Given the description of an element on the screen output the (x, y) to click on. 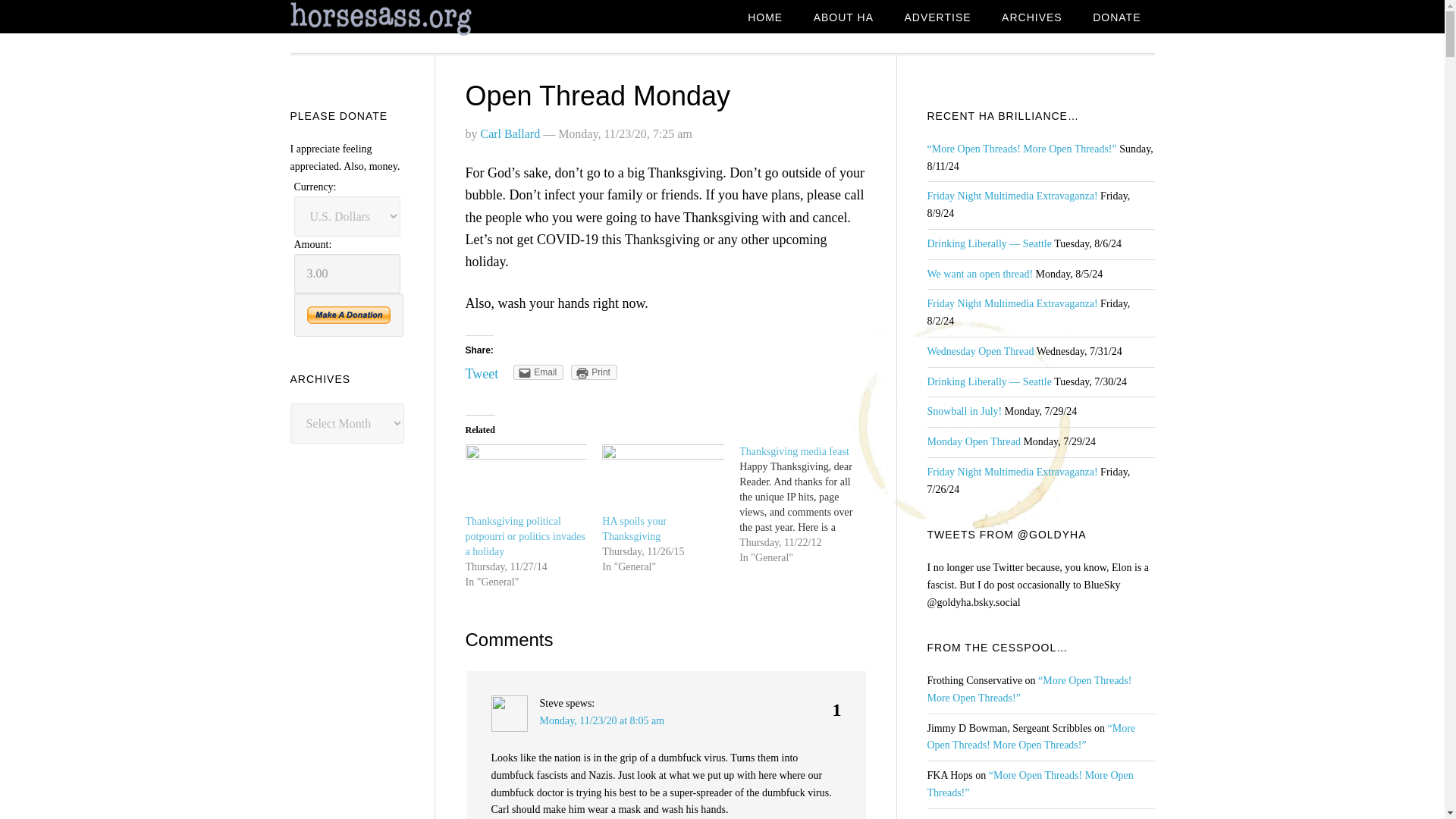
Thanksgiving media feast (793, 451)
ARCHIVES (1031, 17)
The amount you wish to donate (347, 273)
HA spoils your Thanksgiving (634, 528)
Carl Ballard (510, 133)
ADVERTISE (936, 17)
ABOUT HA (842, 17)
Email (538, 372)
Click to email a link to a friend (538, 372)
